Given the description of an element on the screen output the (x, y) to click on. 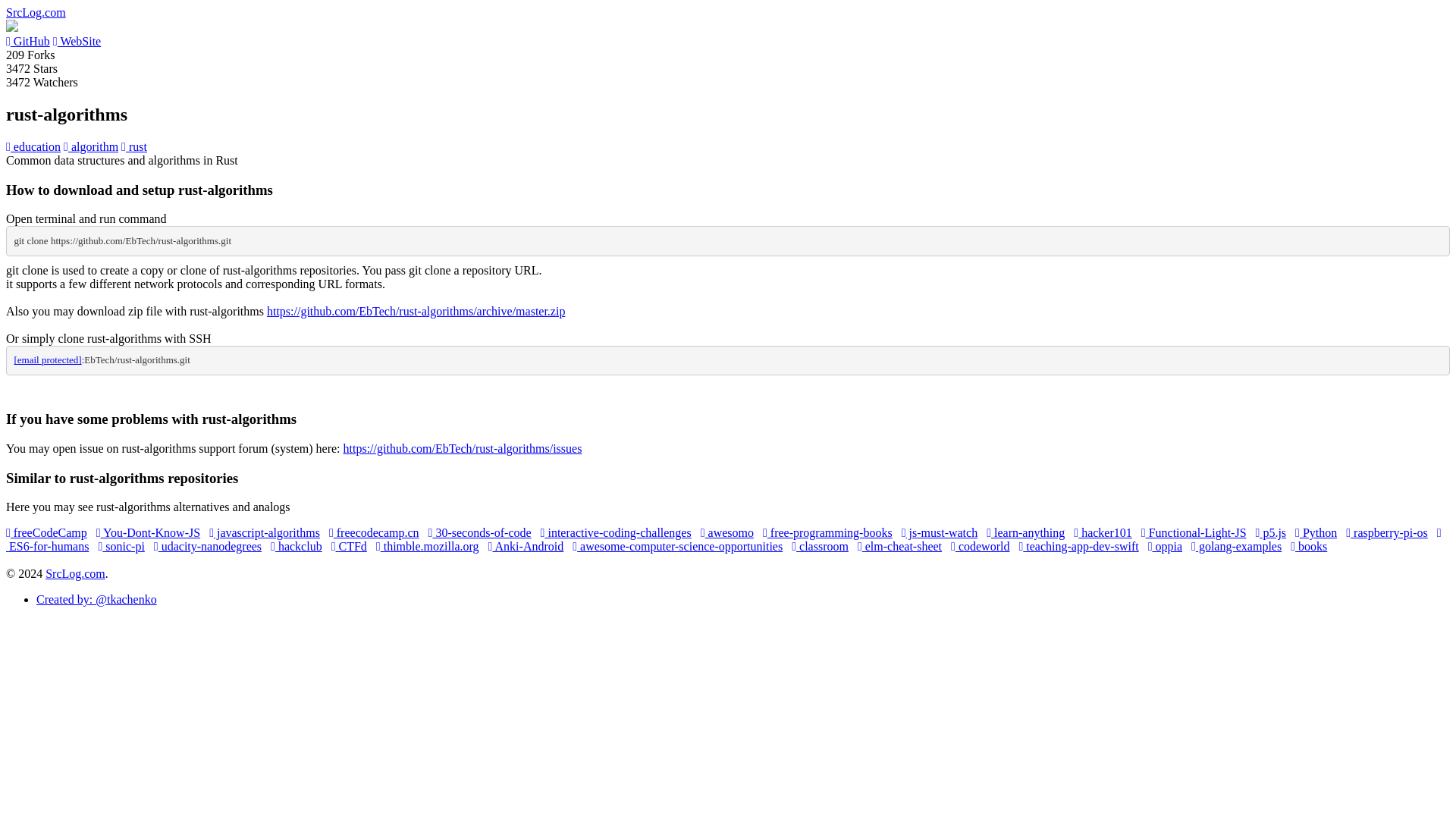
 You-Dont-Know-JS (148, 532)
 hackclub (295, 545)
 js-must-watch (939, 532)
 elm-cheat-sheet (899, 545)
GitHub (27, 41)
 learn-anything (1025, 532)
 freecodecamp.cn (374, 532)
 p5.js (1271, 532)
 algorithm (90, 146)
 raspberry-pi-os (1386, 532)
